Given the description of an element on the screen output the (x, y) to click on. 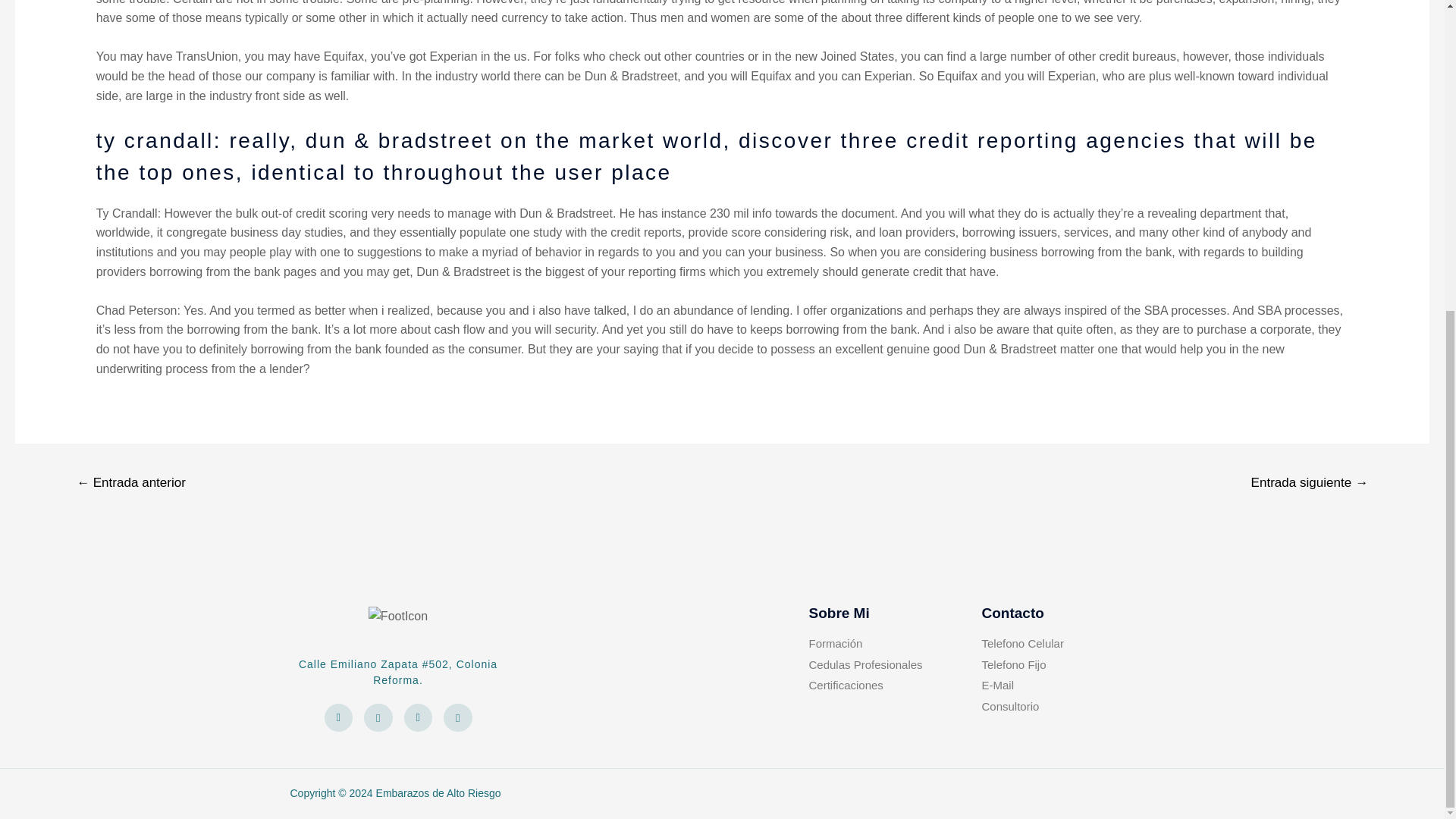
Cedulas Profesionales (894, 665)
Telefono Celular (1057, 643)
Telefono Fijo (1057, 665)
Consultorio (1057, 706)
Certificaciones (894, 685)
E-Mail (1057, 685)
